Given the description of an element on the screen output the (x, y) to click on. 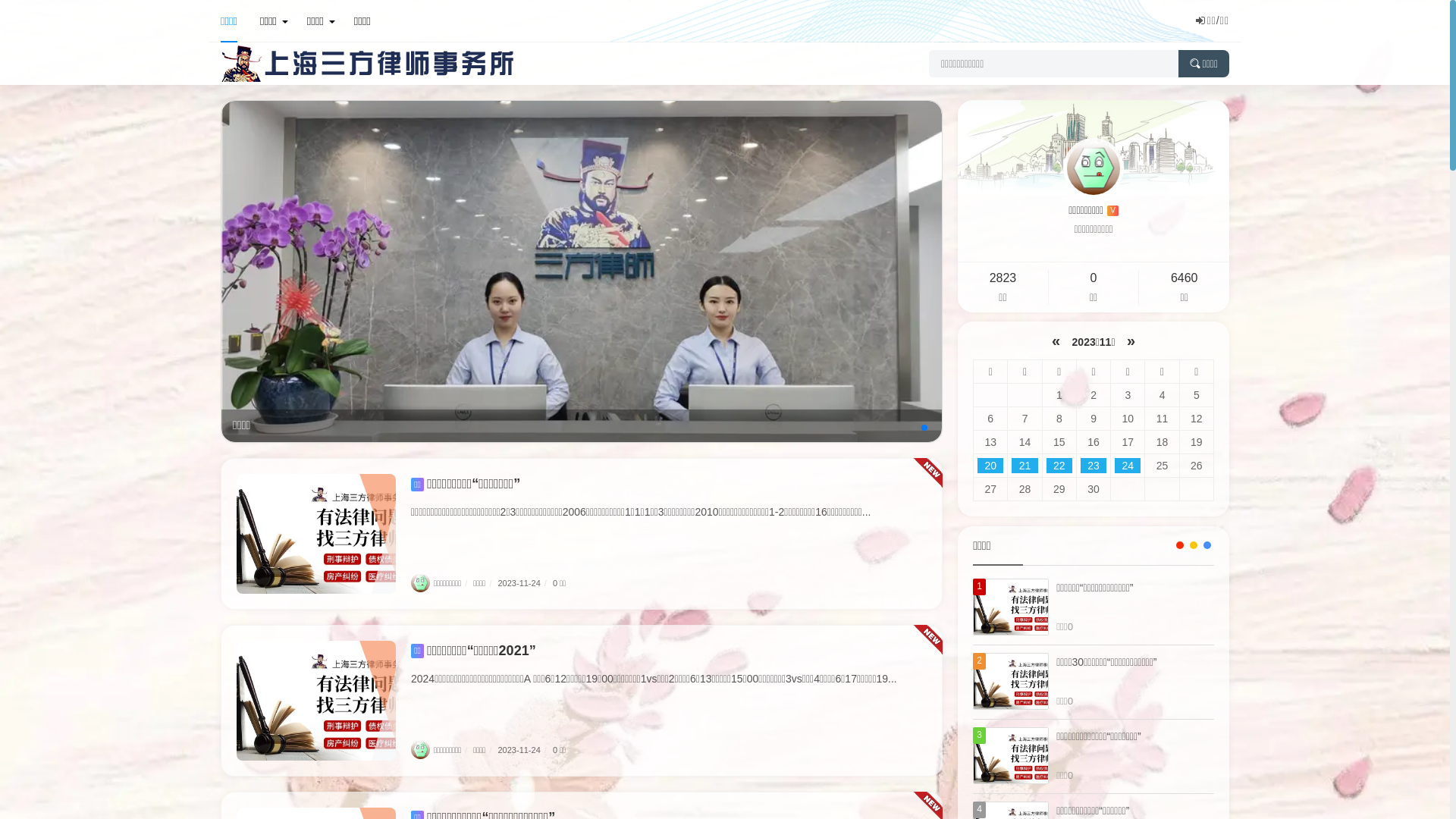
24 Element type: text (1127, 465)
20 Element type: text (990, 465)
23 Element type: text (1093, 465)
21 Element type: text (1024, 465)
22 Element type: text (1059, 465)
